Given the description of an element on the screen output the (x, y) to click on. 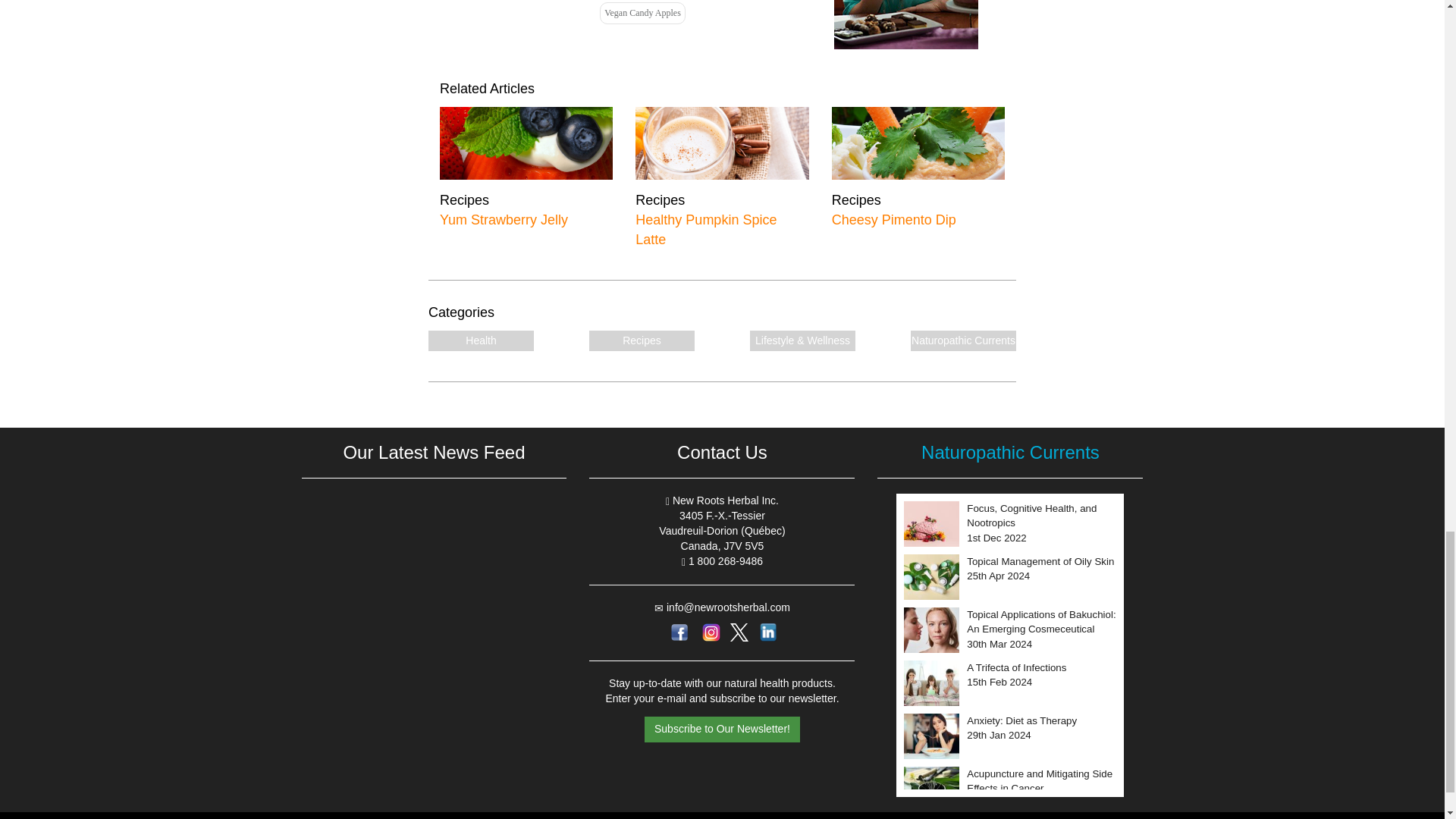
Acupuncture and Mitigating Side Effects in Cancer (1041, 682)
